Given the description of an element on the screen output the (x, y) to click on. 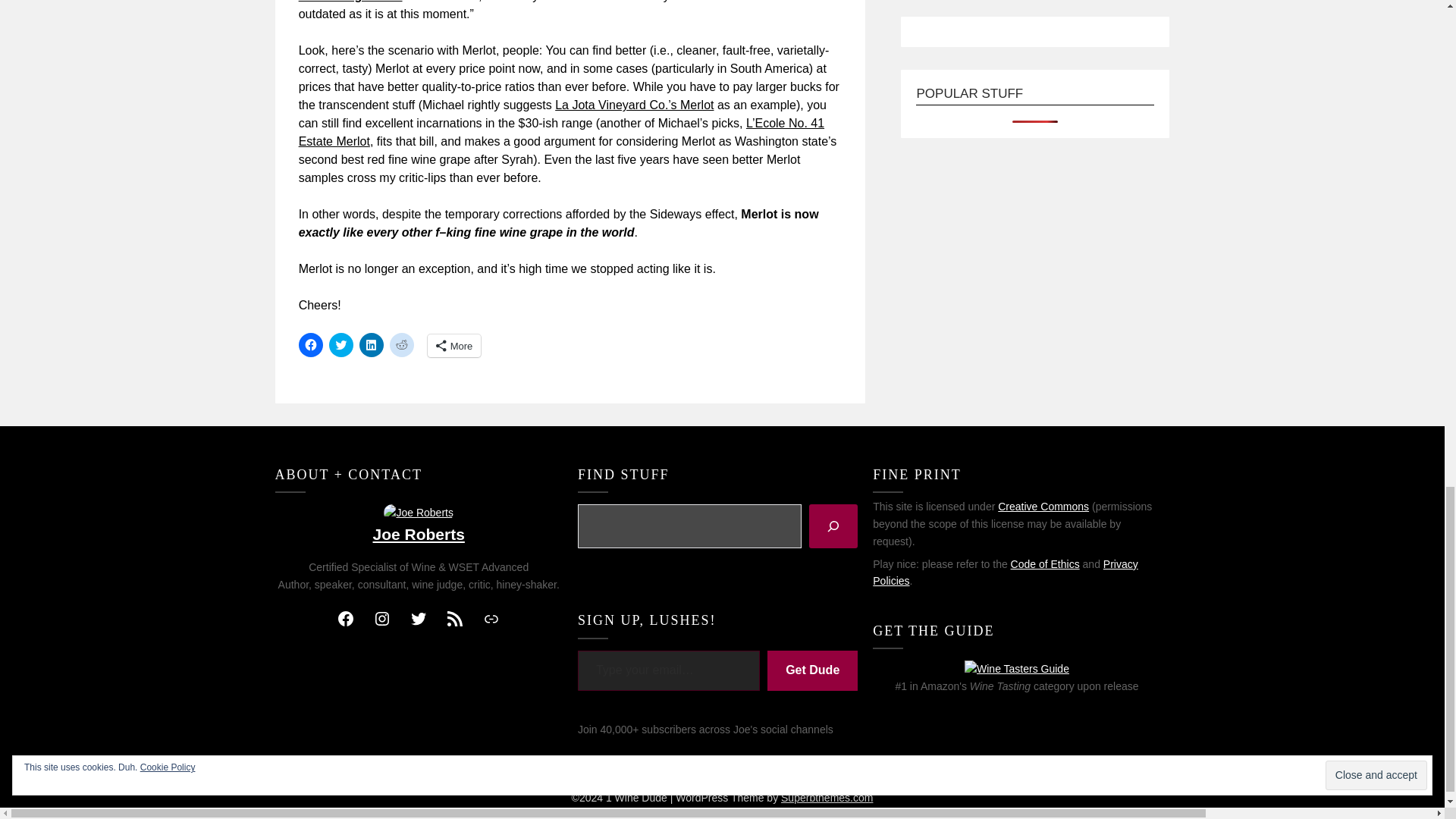
Please fill in this field. (669, 670)
Click to share on Reddit (401, 344)
Click to share on Facebook (310, 344)
Click to share on LinkedIn (371, 344)
Click to share on Twitter (341, 344)
Get The Guide (1015, 669)
